Given the description of an element on the screen output the (x, y) to click on. 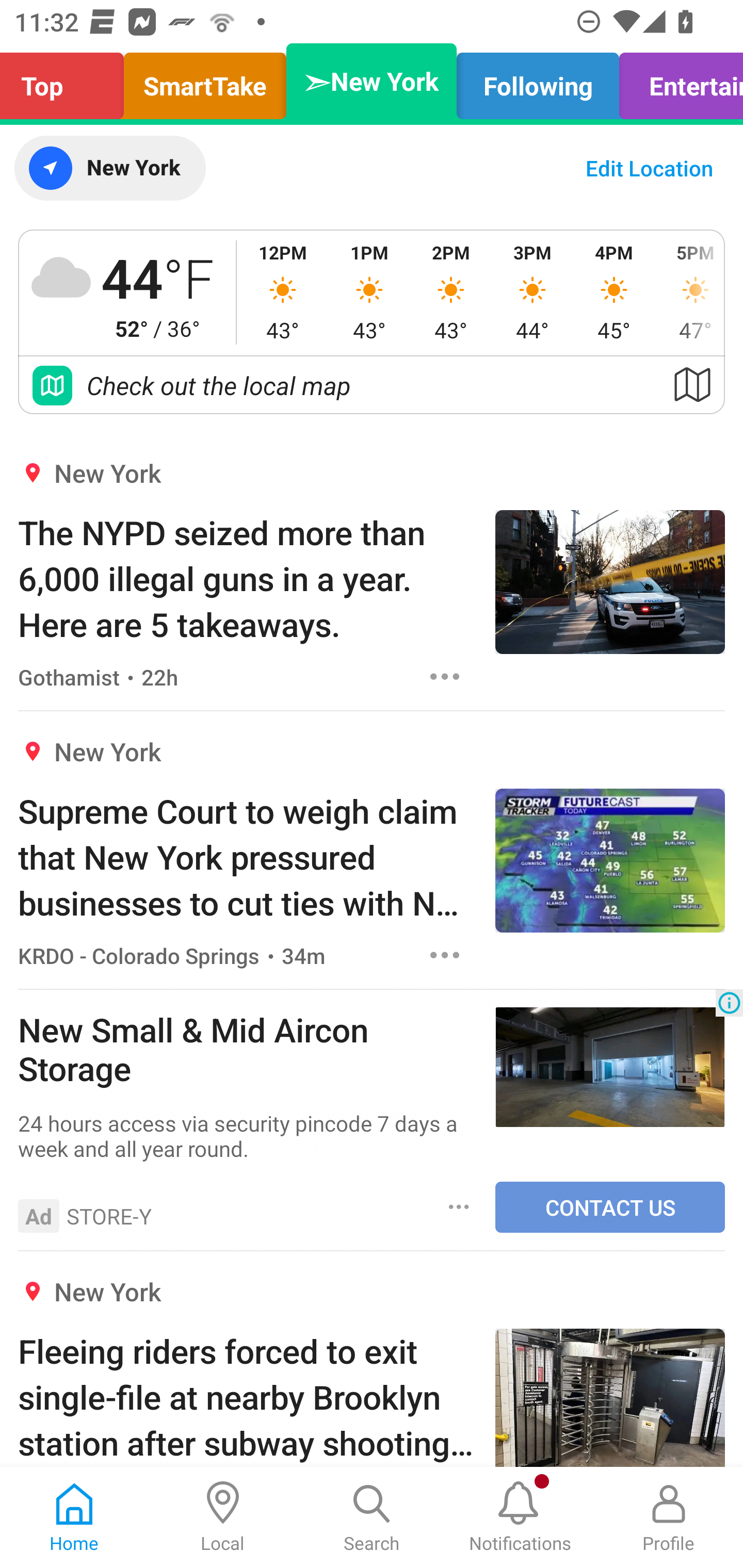
Top (67, 81)
SmartTake (204, 81)
➣New York (371, 81)
Following (537, 81)
New York (109, 168)
Edit Location (648, 168)
12PM 43° (282, 291)
1PM 43° (369, 291)
2PM 43° (450, 291)
3PM 44° (532, 291)
4PM 45° (613, 291)
5PM 47° (689, 291)
Check out the local map (371, 384)
Options (444, 676)
Options (444, 954)
Ad Choices Icon (729, 1002)
New Small & Mid Aircon Storage (247, 1047)
CONTACT US (610, 1207)
Options (459, 1206)
STORE-Y (109, 1215)
Local (222, 1517)
Search (371, 1517)
Notifications, New notification Notifications (519, 1517)
Profile (668, 1517)
